Given the description of an element on the screen output the (x, y) to click on. 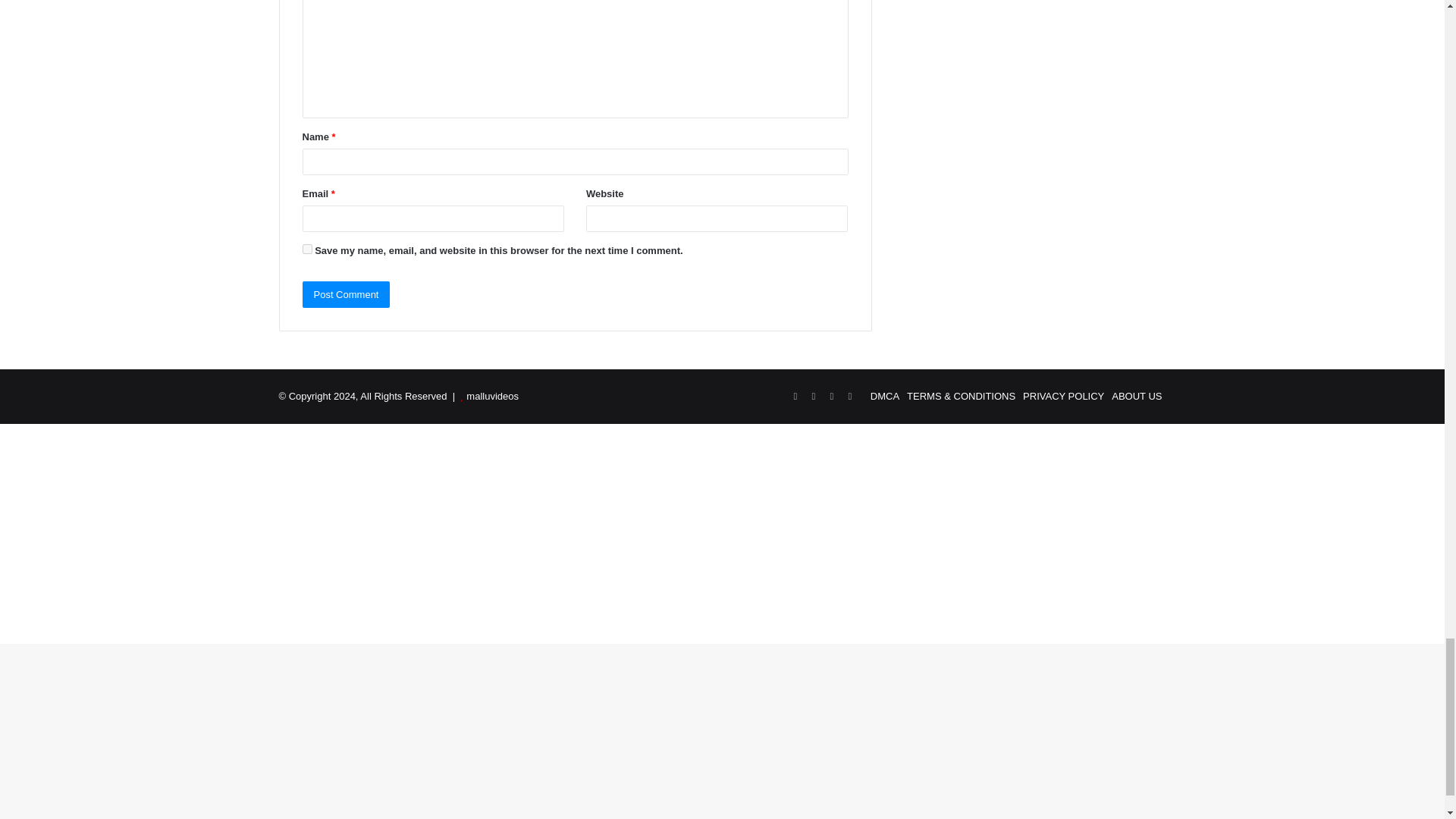
yes (306, 248)
Post Comment (345, 293)
